Given the description of an element on the screen output the (x, y) to click on. 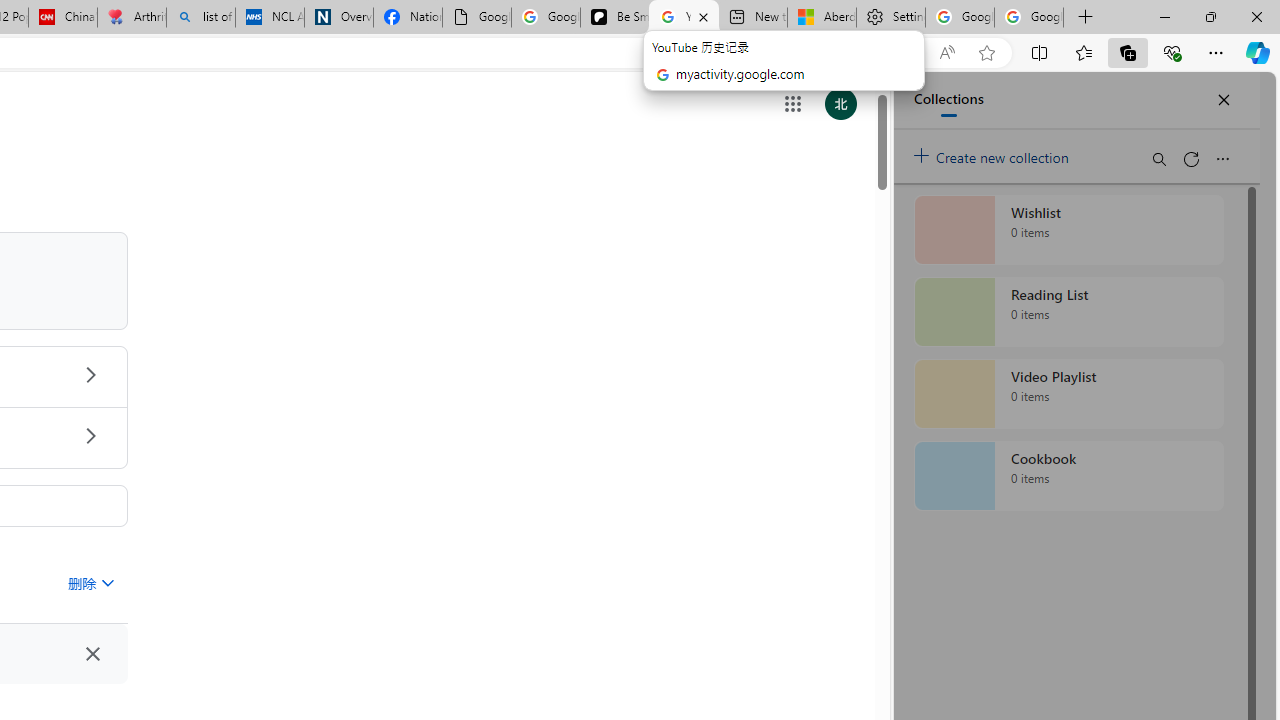
Class: asE2Ub NMm5M (107, 582)
Class: DI7Mnf NMm5M (91, 654)
